Given the description of an element on the screen output the (x, y) to click on. 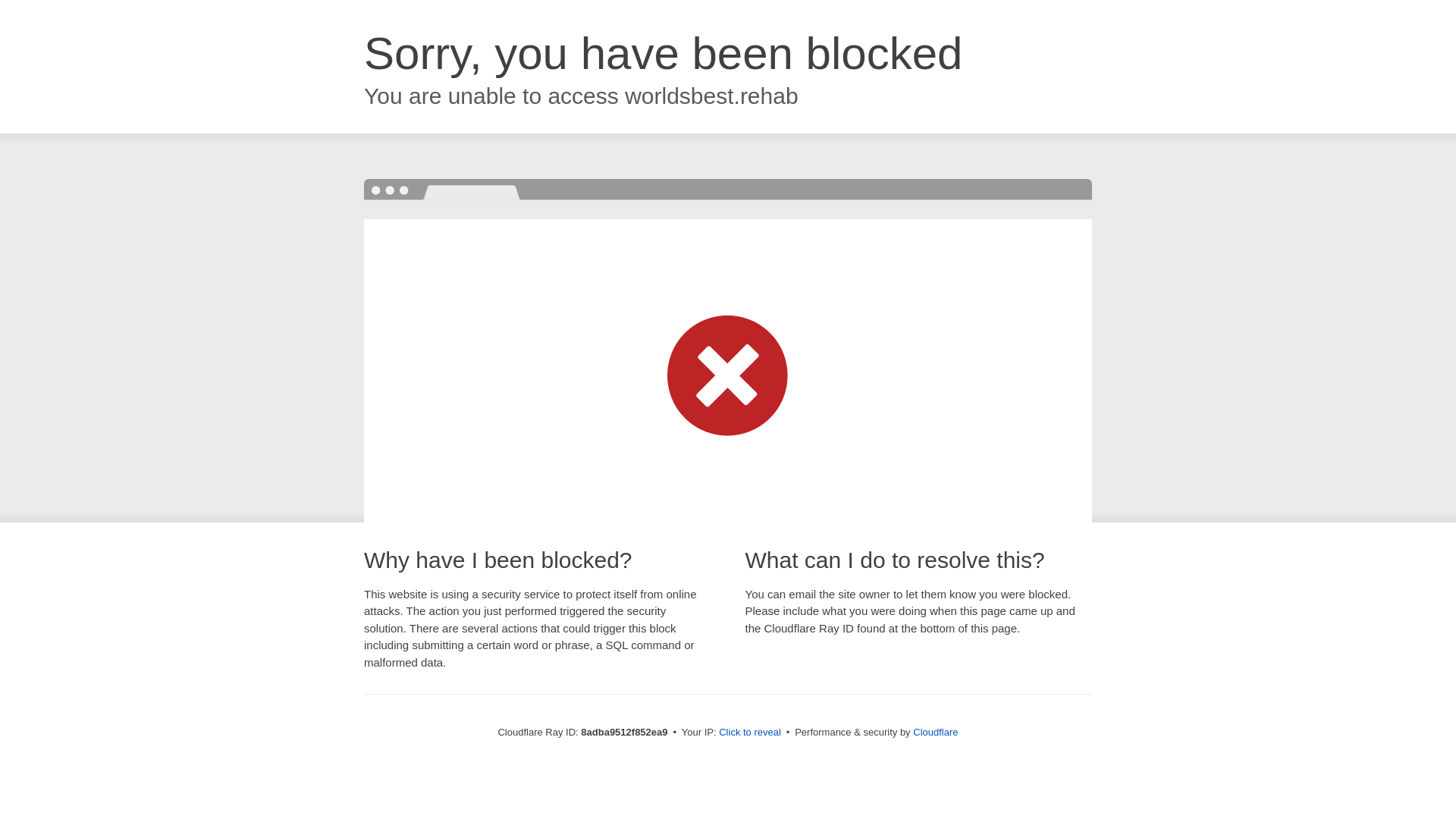
Cloudflare (935, 731)
Click to reveal (749, 732)
